Given the description of an element on the screen output the (x, y) to click on. 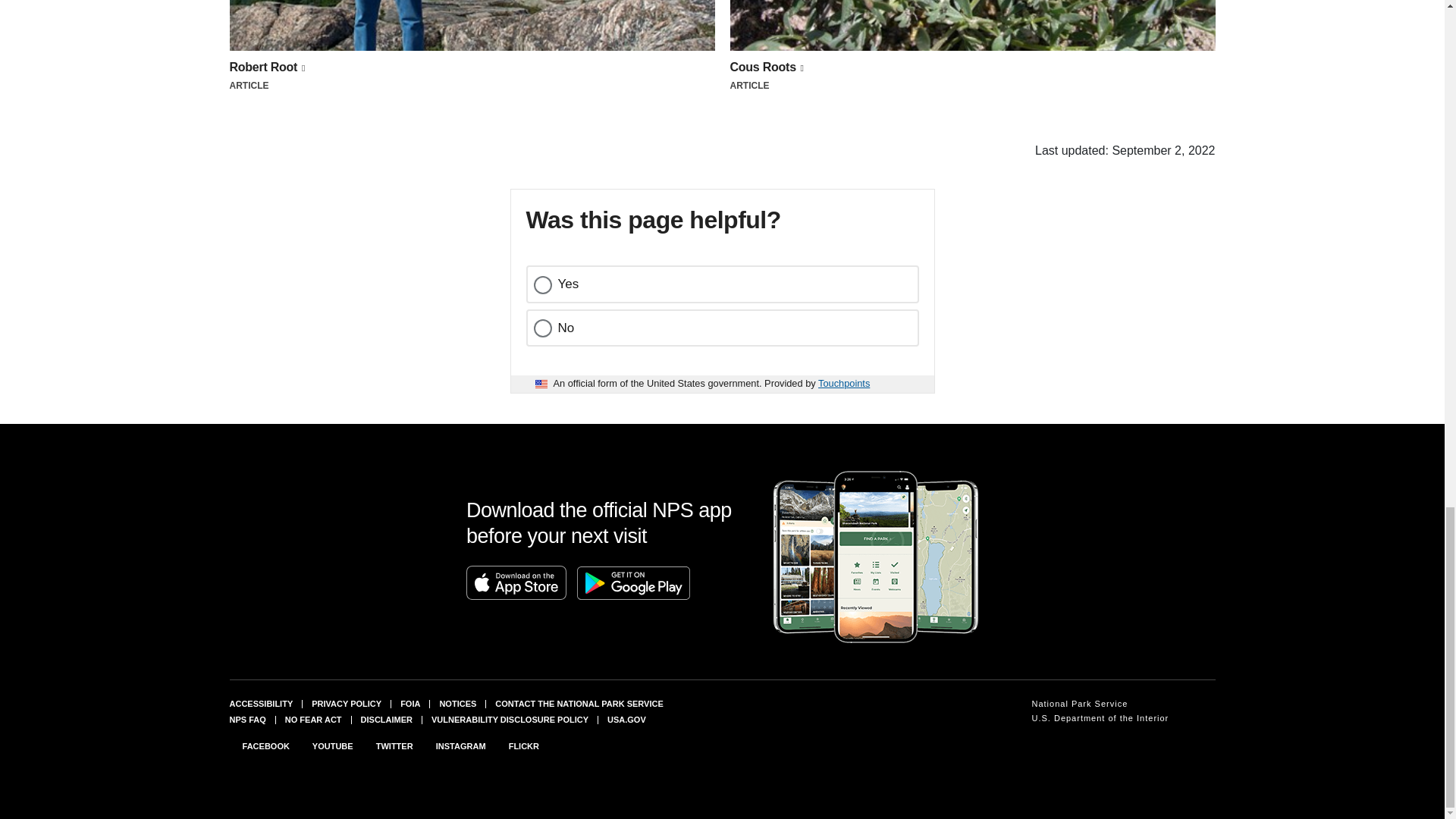
National Park Service frequently asked questions (246, 718)
